Given the description of an element on the screen output the (x, y) to click on. 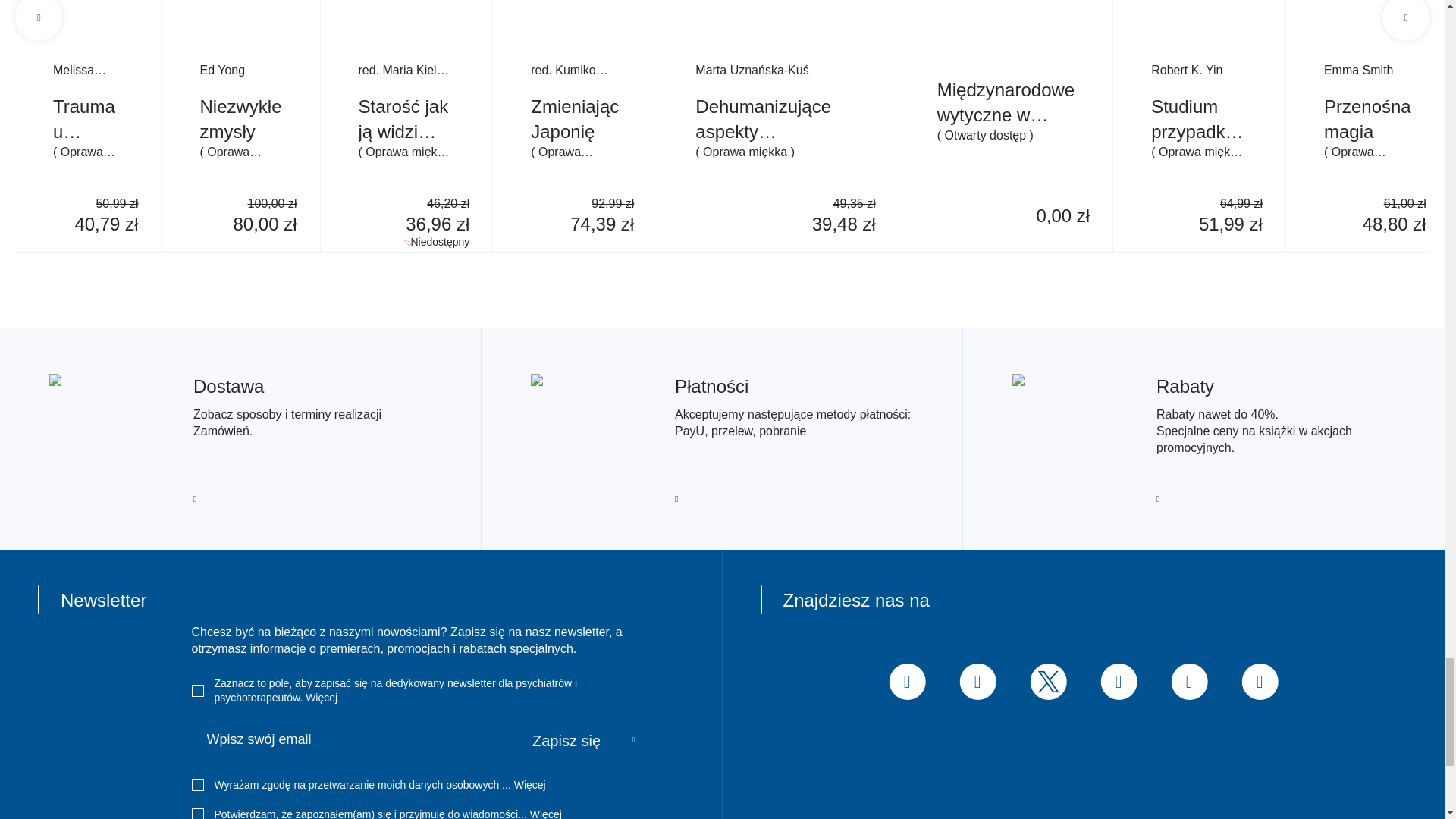
Ed Yong (240, 70)
Melissa Goldberg Mintz (87, 70)
Trauma u twojego dziecka (87, 119)
